Given the description of an element on the screen output the (x, y) to click on. 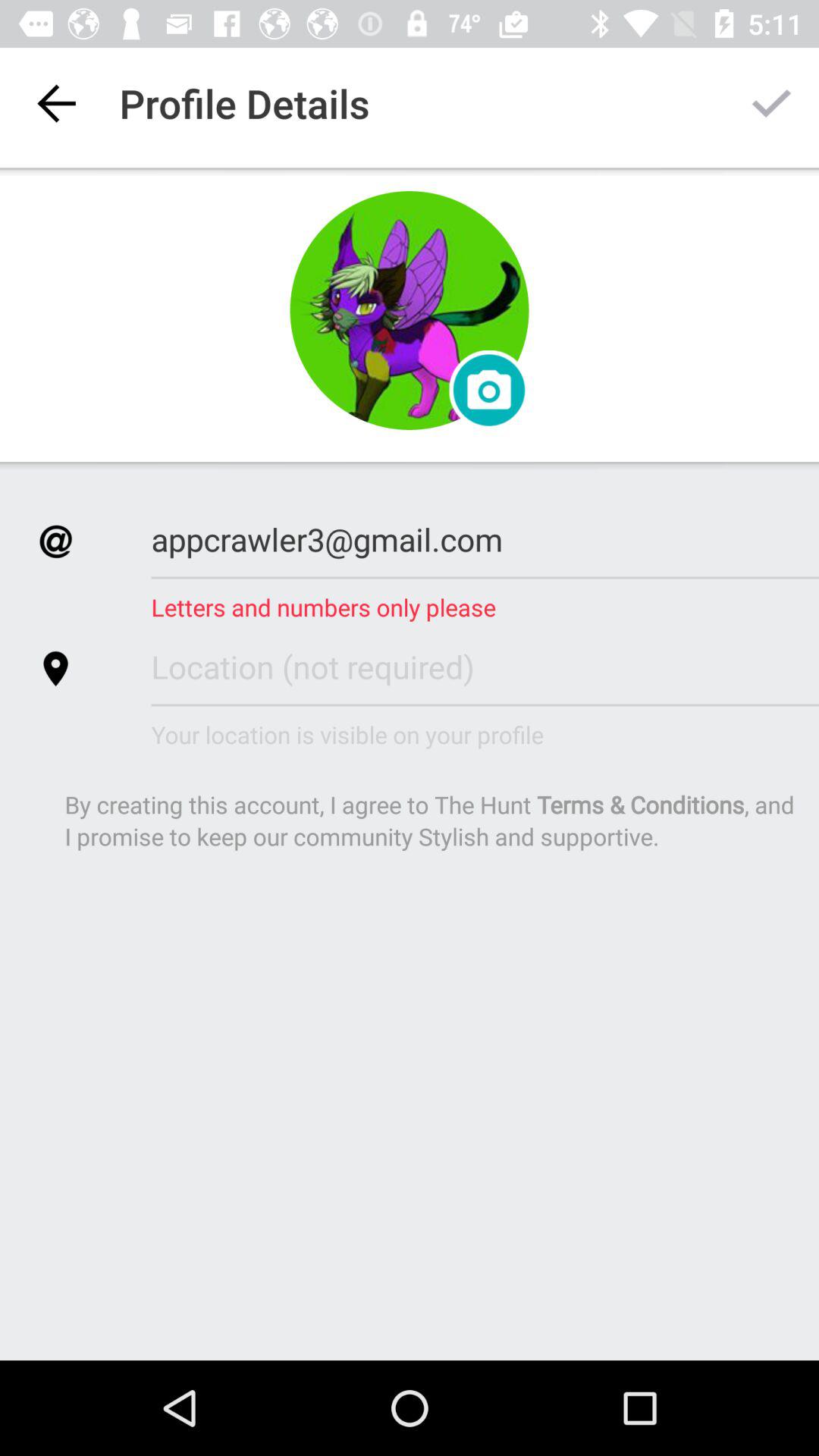
enter location (485, 666)
